Given the description of an element on the screen output the (x, y) to click on. 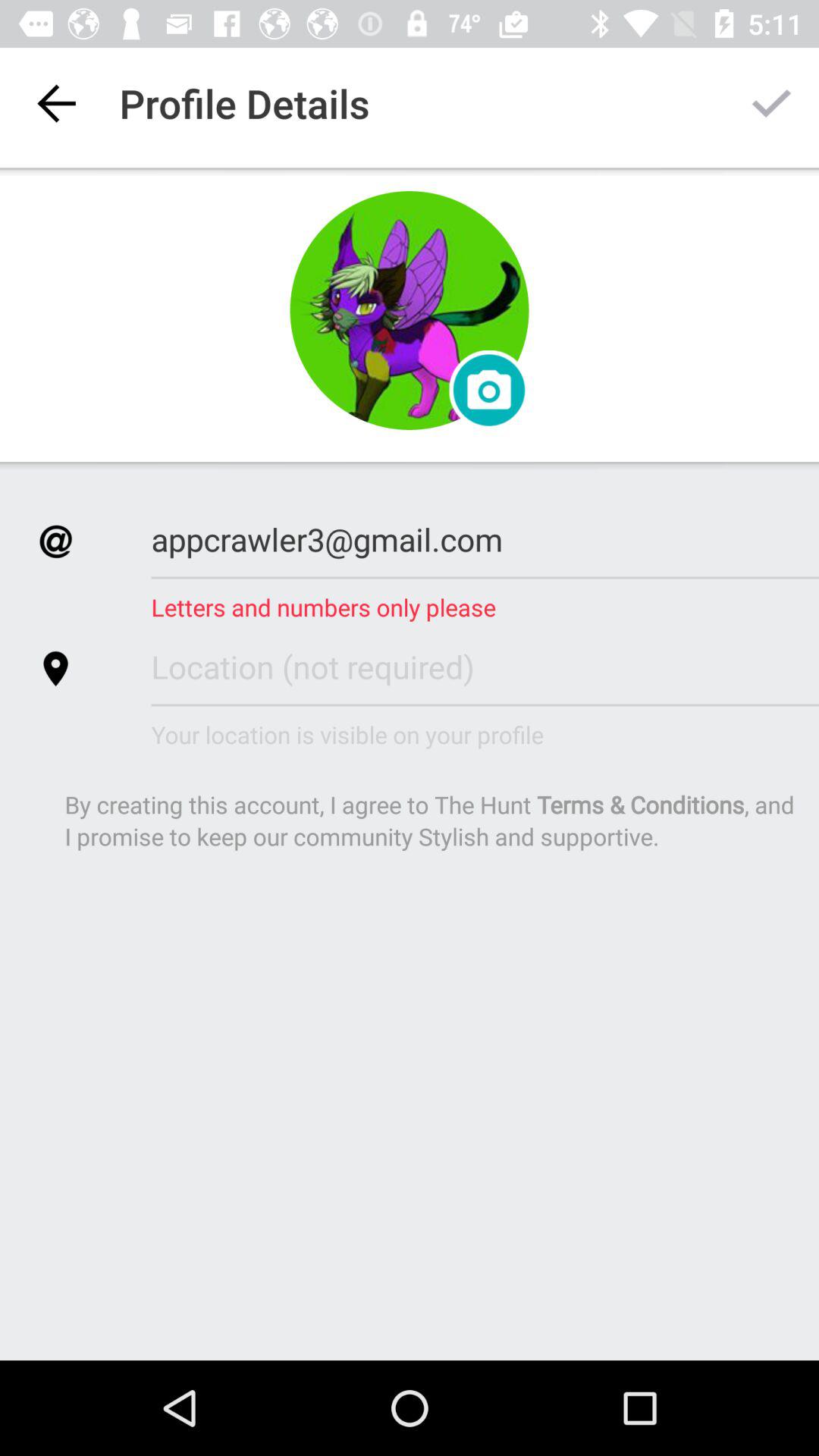
enter location (485, 666)
